Given the description of an element on the screen output the (x, y) to click on. 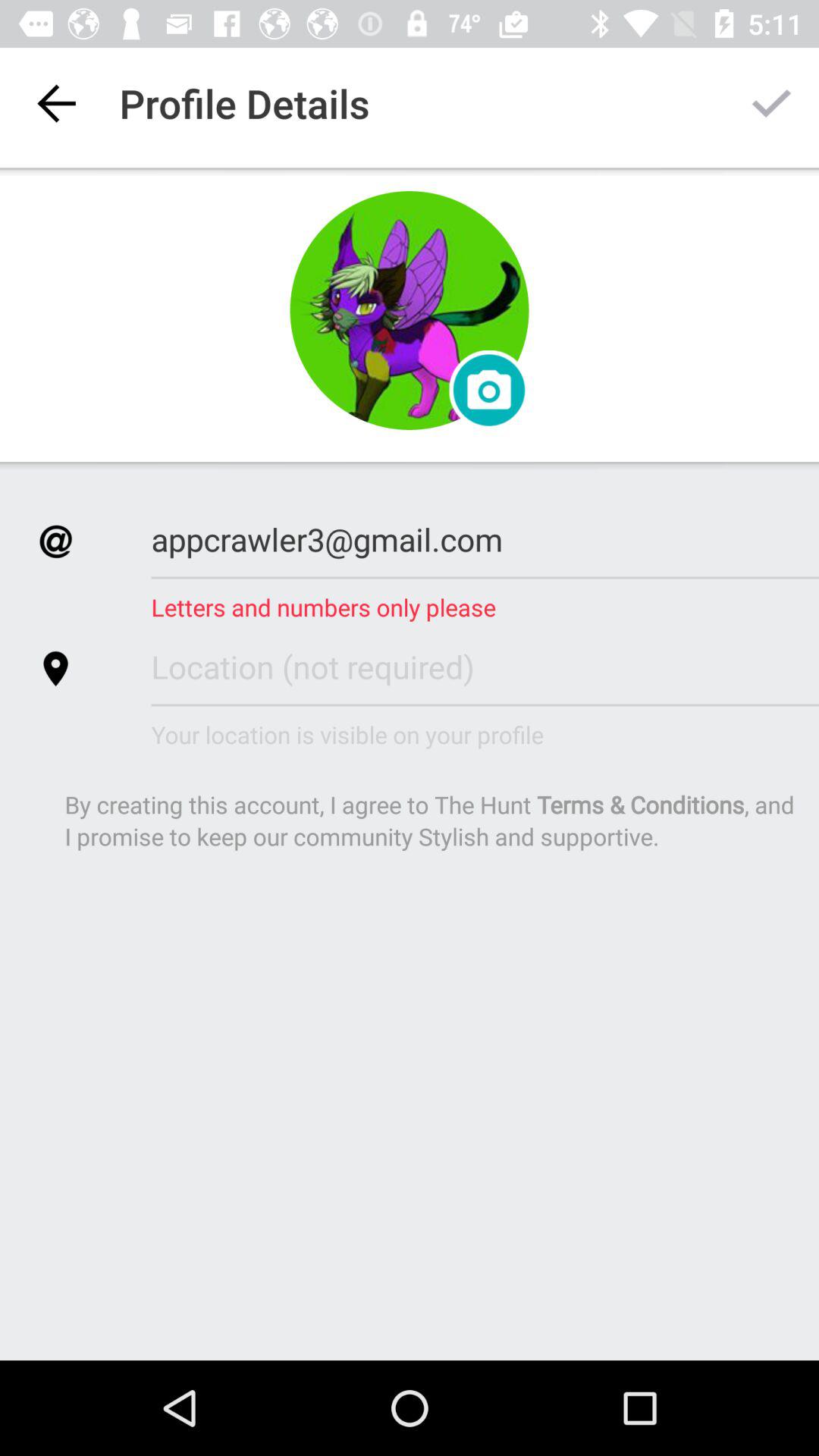
enter location (485, 666)
